Given the description of an element on the screen output the (x, y) to click on. 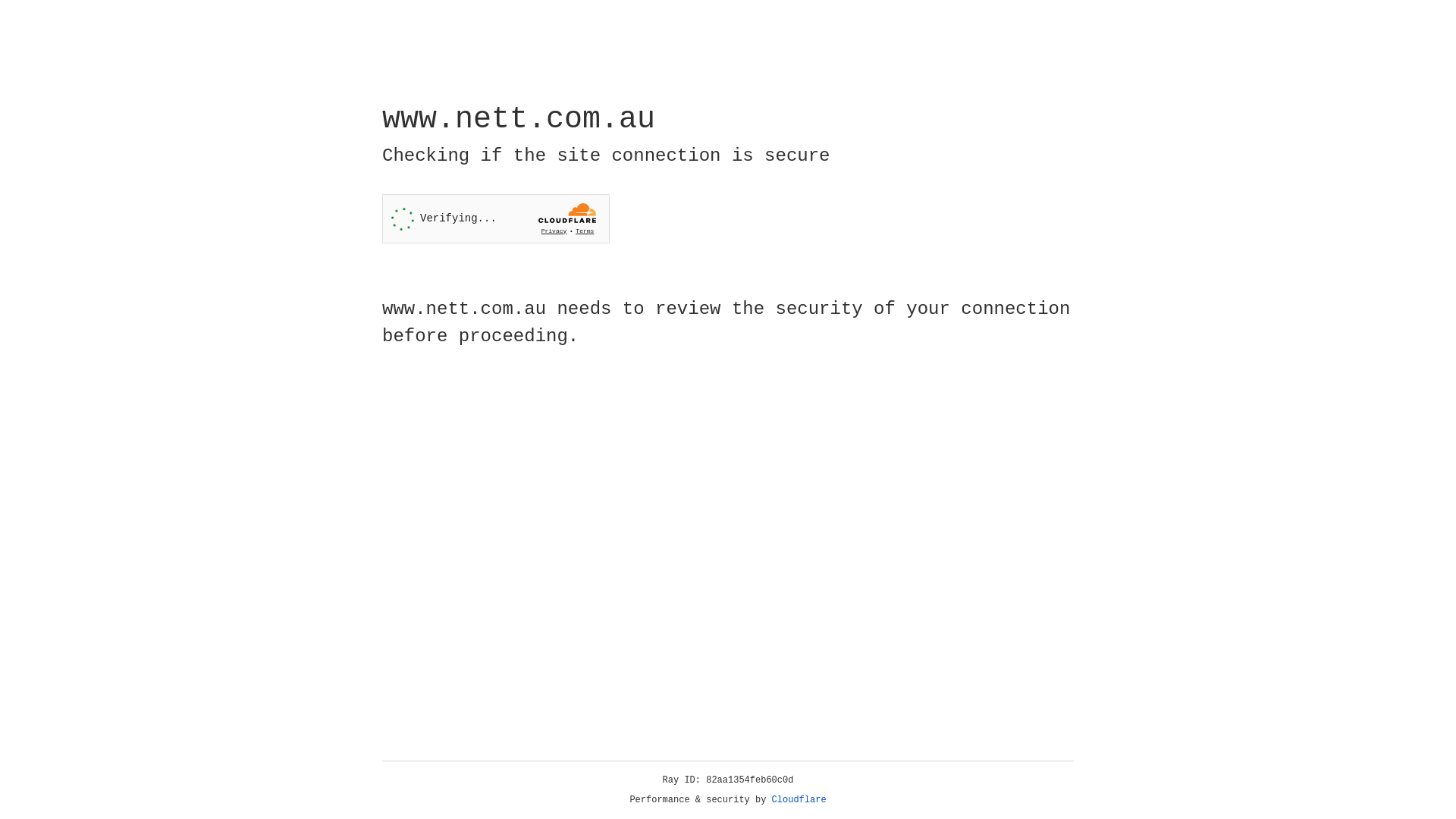
Cloudflare Element type: text (798, 799)
Widget containing a Cloudflare security challenge Element type: hover (495, 218)
